Given the description of an element on the screen output the (x, y) to click on. 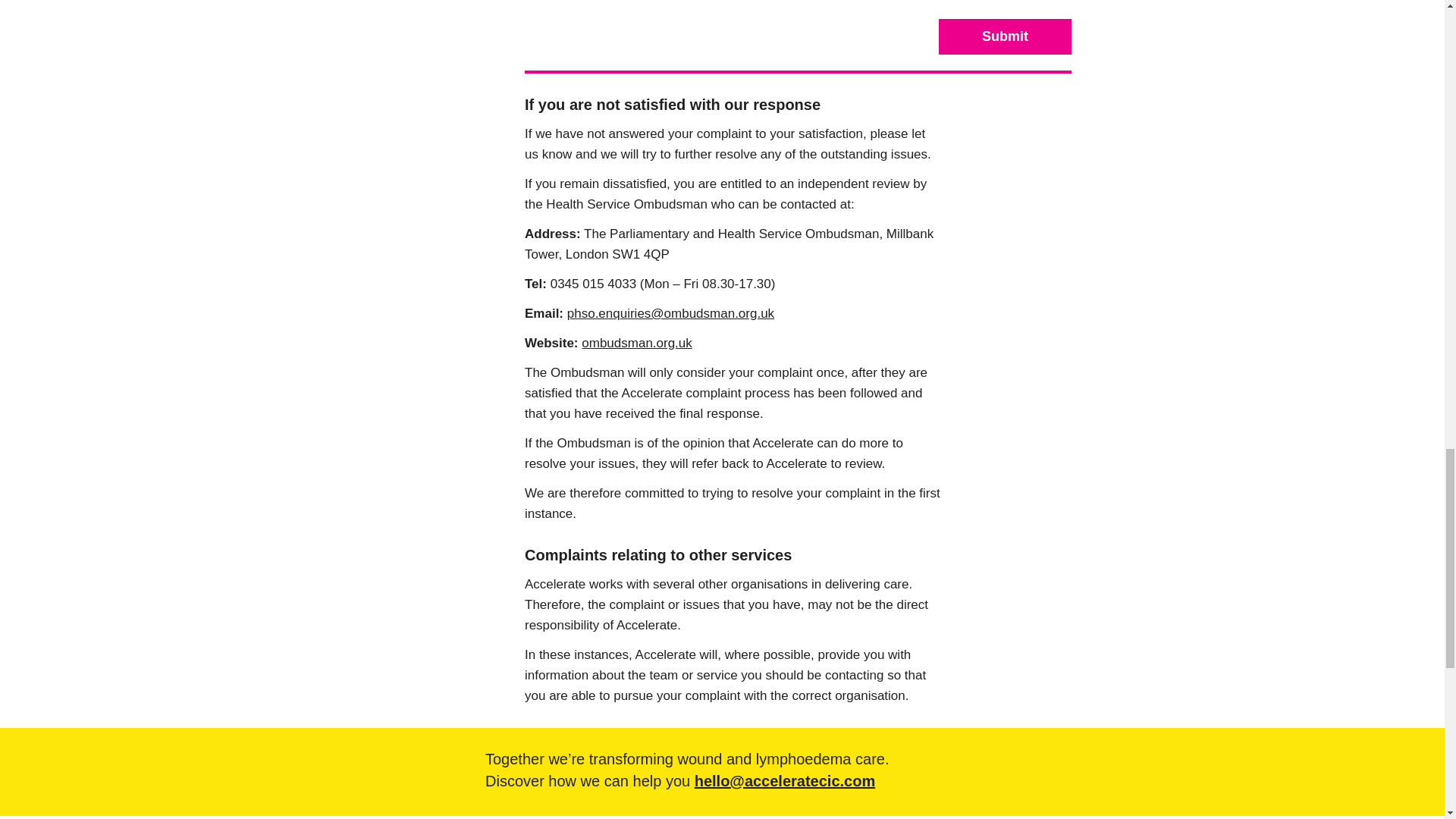
ombudsman.org.uk (636, 342)
Submit (1005, 36)
Submit (1005, 36)
